Given the description of an element on the screen output the (x, y) to click on. 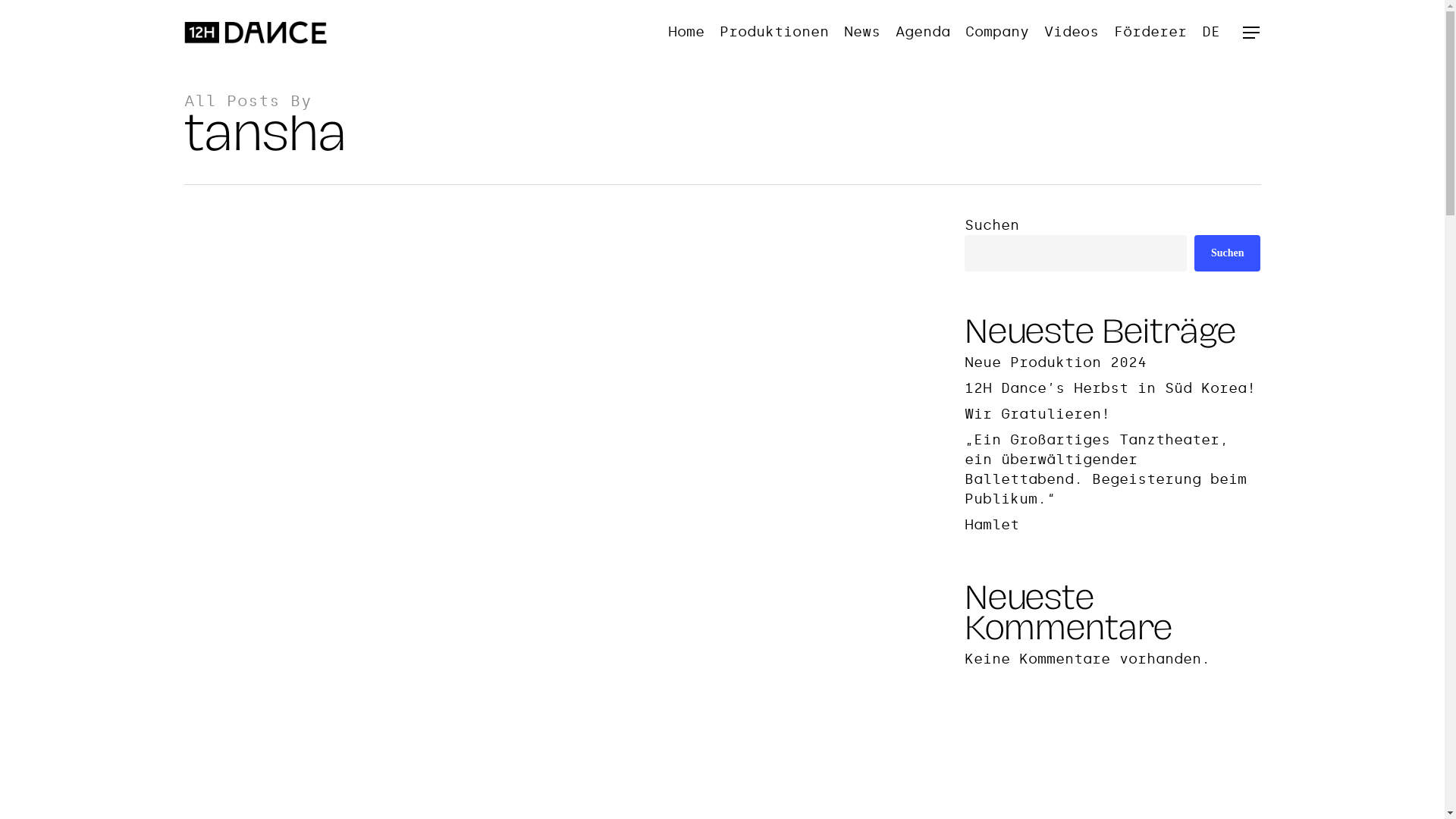
Wir Gratulieren! Element type: text (1112, 413)
Agenda Element type: text (921, 31)
Neue Produktion 2024 Element type: text (1112, 362)
Suchen Element type: text (1227, 253)
News Element type: text (861, 31)
Videos Element type: text (1070, 31)
Menu Element type: text (1251, 32)
DE Element type: text (1210, 31)
Home Element type: text (685, 31)
Company Element type: text (996, 31)
Hamlet Element type: text (1112, 524)
Produktionen Element type: text (773, 31)
